Given the description of an element on the screen output the (x, y) to click on. 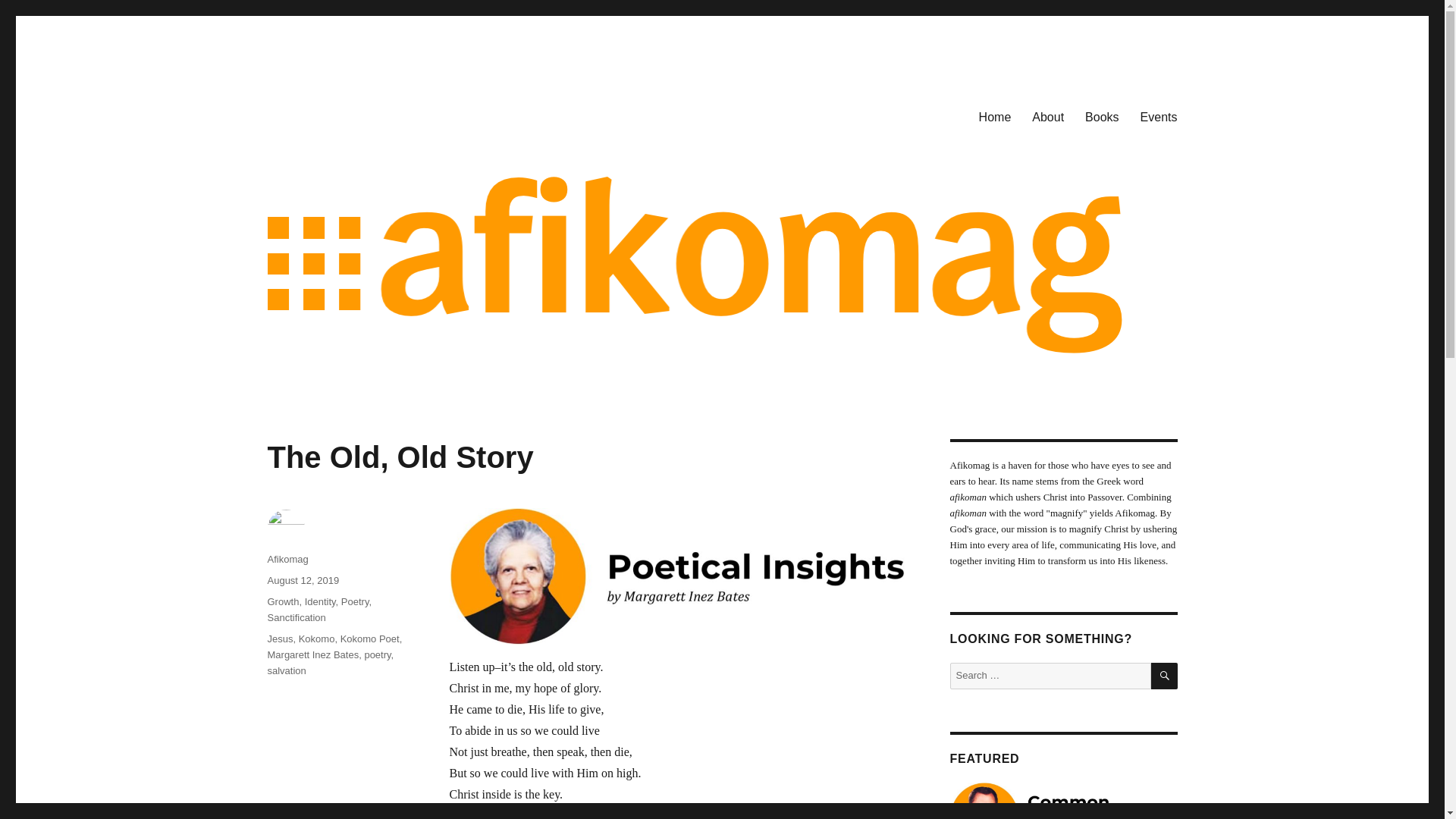
Books (1101, 116)
Events (1158, 116)
Home (995, 116)
Afikomag (286, 559)
Margarett Inez Bates (312, 654)
Jesus (279, 638)
Poetry (354, 601)
poetry (377, 654)
Kokomo Poet (369, 638)
Afikomag (315, 114)
SEARCH (1164, 675)
Growth (282, 601)
Sanctification (295, 617)
About (1048, 116)
Kokomo (316, 638)
